Given the description of an element on the screen output the (x, y) to click on. 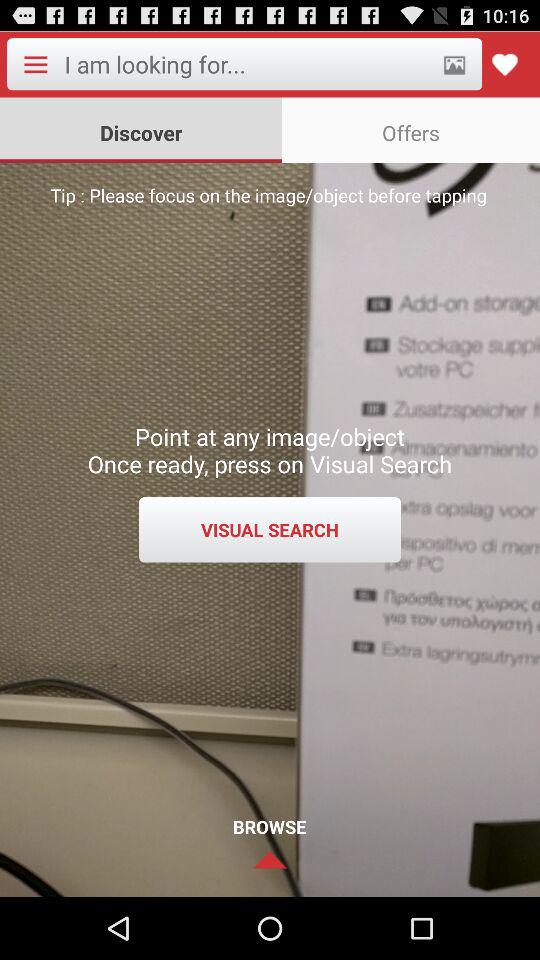
take snapshot (453, 63)
